Given the description of an element on the screen output the (x, y) to click on. 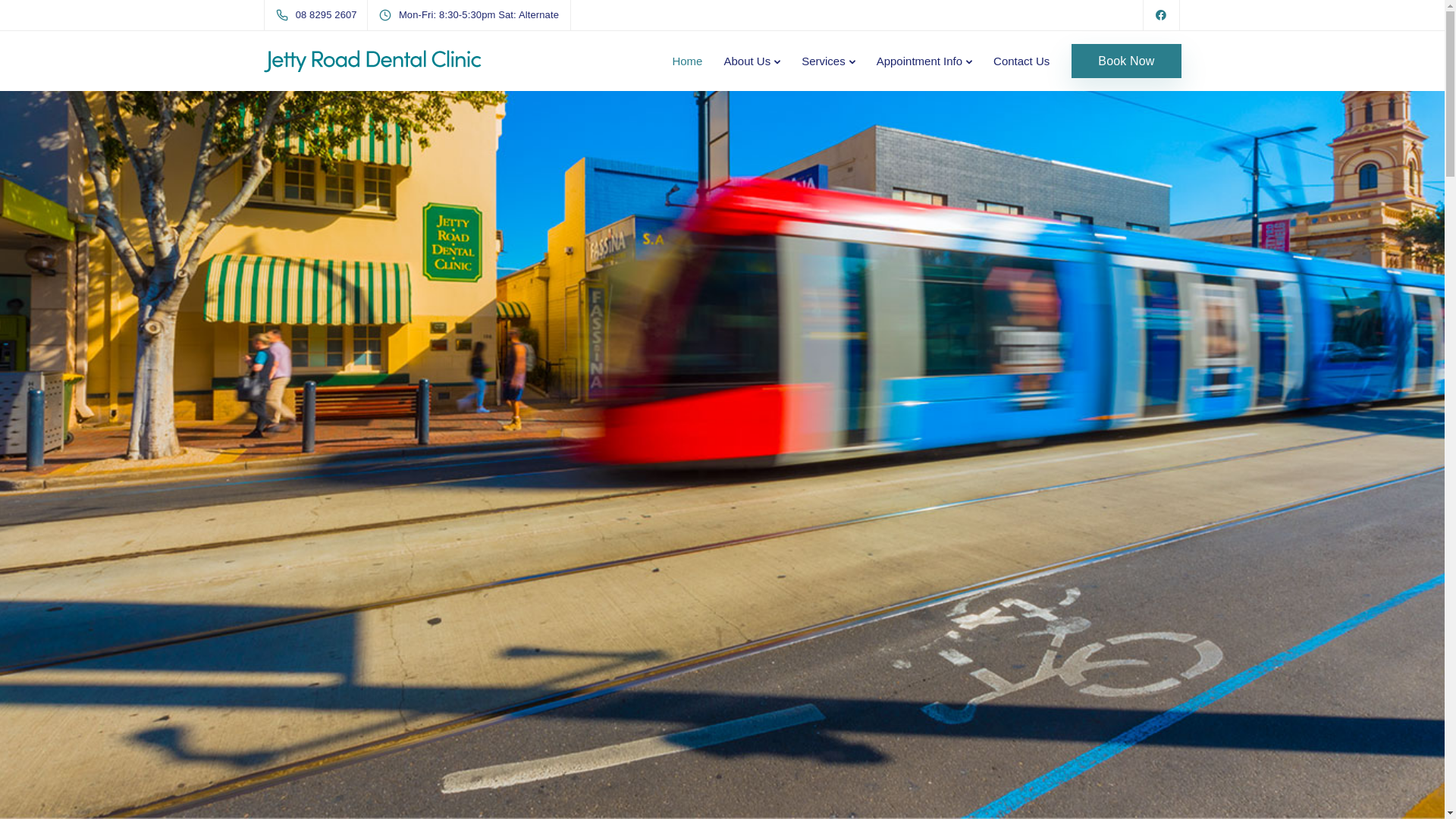
Services Element type: text (360, 564)
Book Now Element type: text (1125, 60)
08 8295 2607 Element type: text (319, 15)
Home Element type: text (686, 61)
Appointment Info Element type: text (924, 61)
Privacy Policy Element type: text (908, 774)
Services Element type: text (828, 61)
Contact Us Element type: text (436, 564)
08 8295 2607 Element type: text (912, 707)
About Us Element type: text (751, 61)
Contact Us Element type: text (1021, 61)
About Us Element type: text (288, 564)
